Given the description of an element on the screen output the (x, y) to click on. 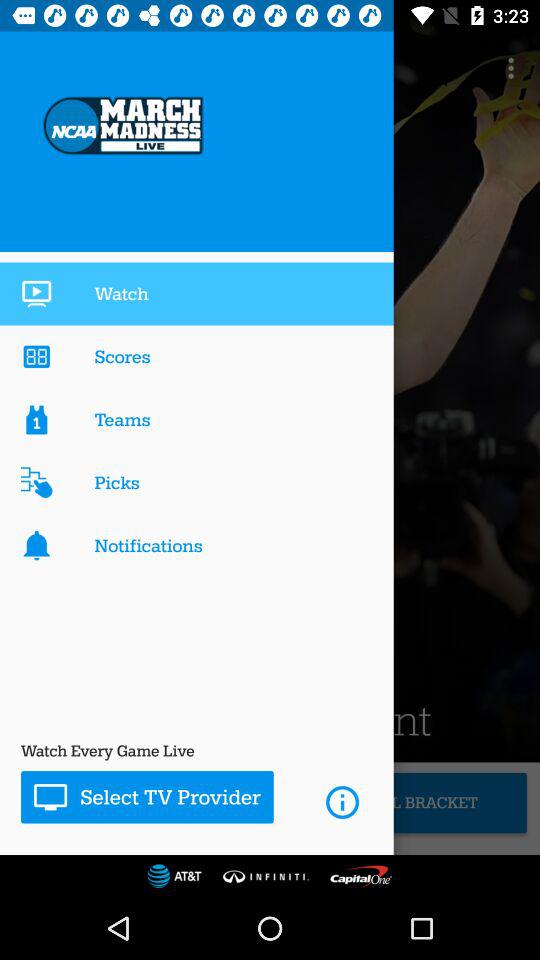
select the i icon which is there beside select tv provider (341, 801)
click on the select tv provider box (147, 796)
